Given the description of an element on the screen output the (x, y) to click on. 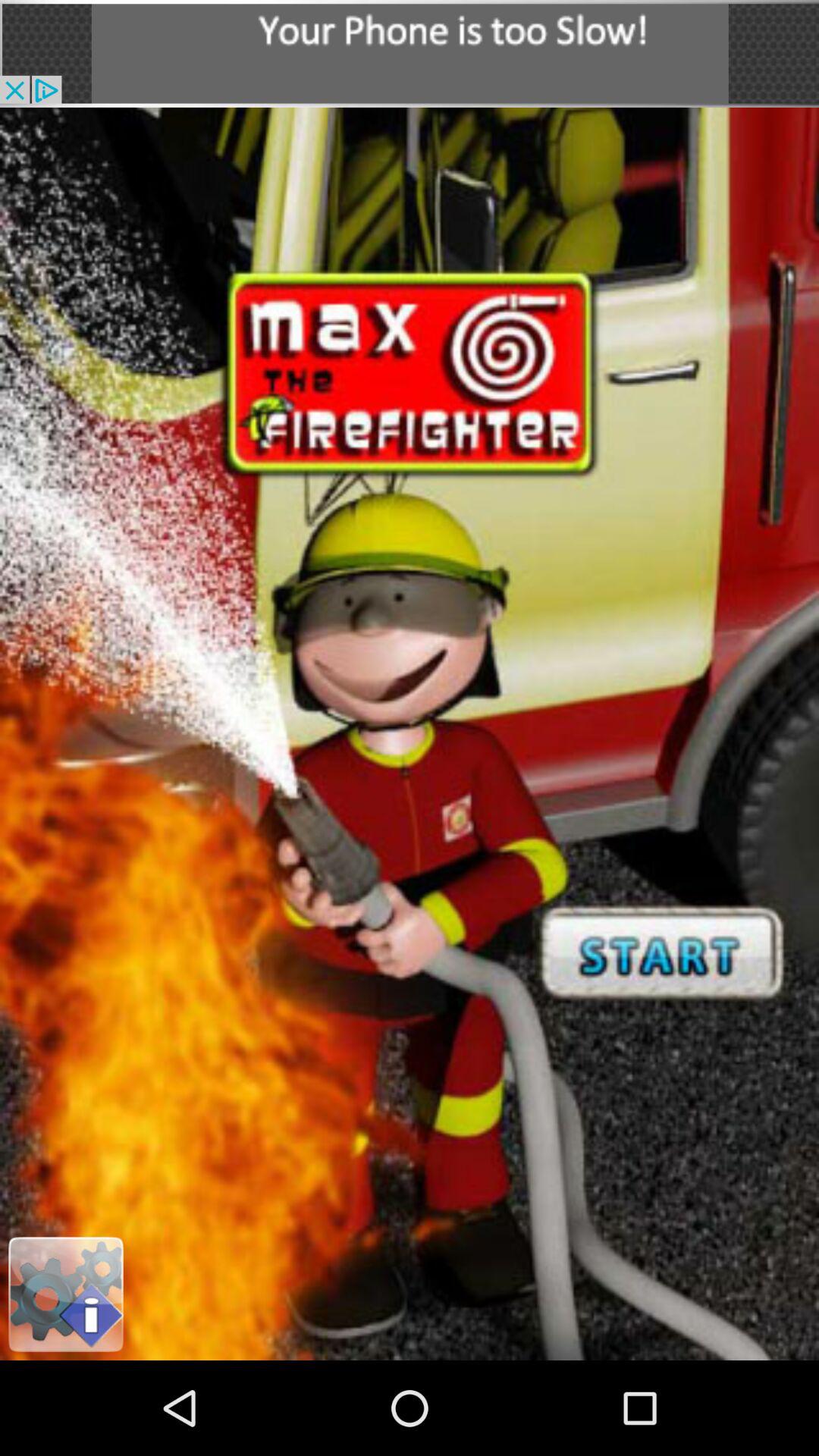
click advertisement (409, 53)
